Given the description of an element on the screen output the (x, y) to click on. 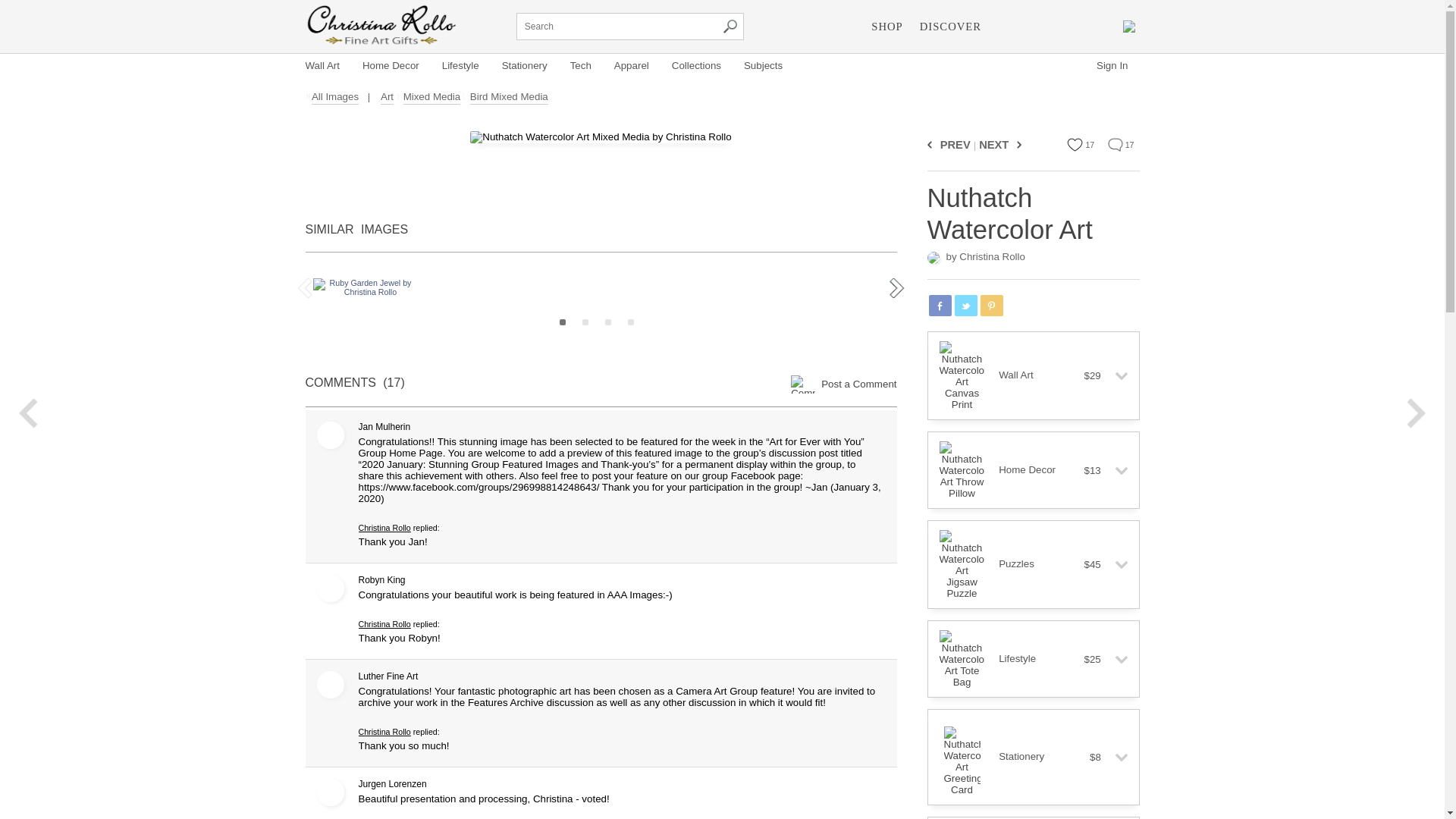
Previous Image (931, 144)
Christina Rollo - Artist Website (380, 25)
SHOP (886, 26)
DISCOVER (950, 26)
Share Product on Twitter (964, 305)
Expand Product (1114, 376)
Next Image (1016, 144)
Favorite (1075, 144)
Share Product on Facebook (939, 305)
Comment (1115, 144)
